Given the description of an element on the screen output the (x, y) to click on. 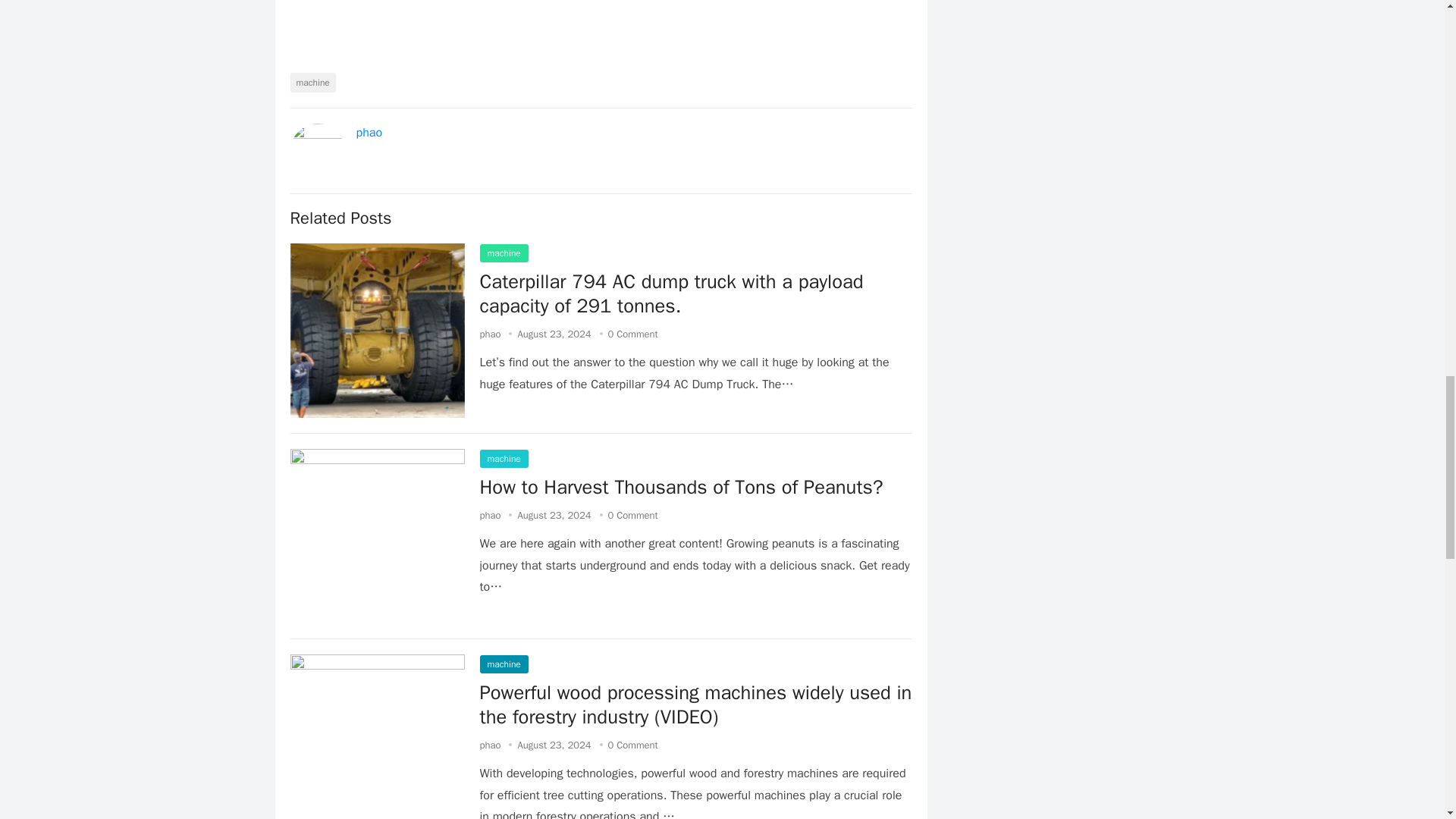
machine (503, 664)
phao (489, 744)
phao (489, 514)
Posts by phao (489, 744)
0 Comment (633, 333)
How to Harvest Thousands of Tons of Peanuts? (680, 487)
0 Comment (633, 514)
phao (489, 333)
machine (311, 82)
